Given the description of an element on the screen output the (x, y) to click on. 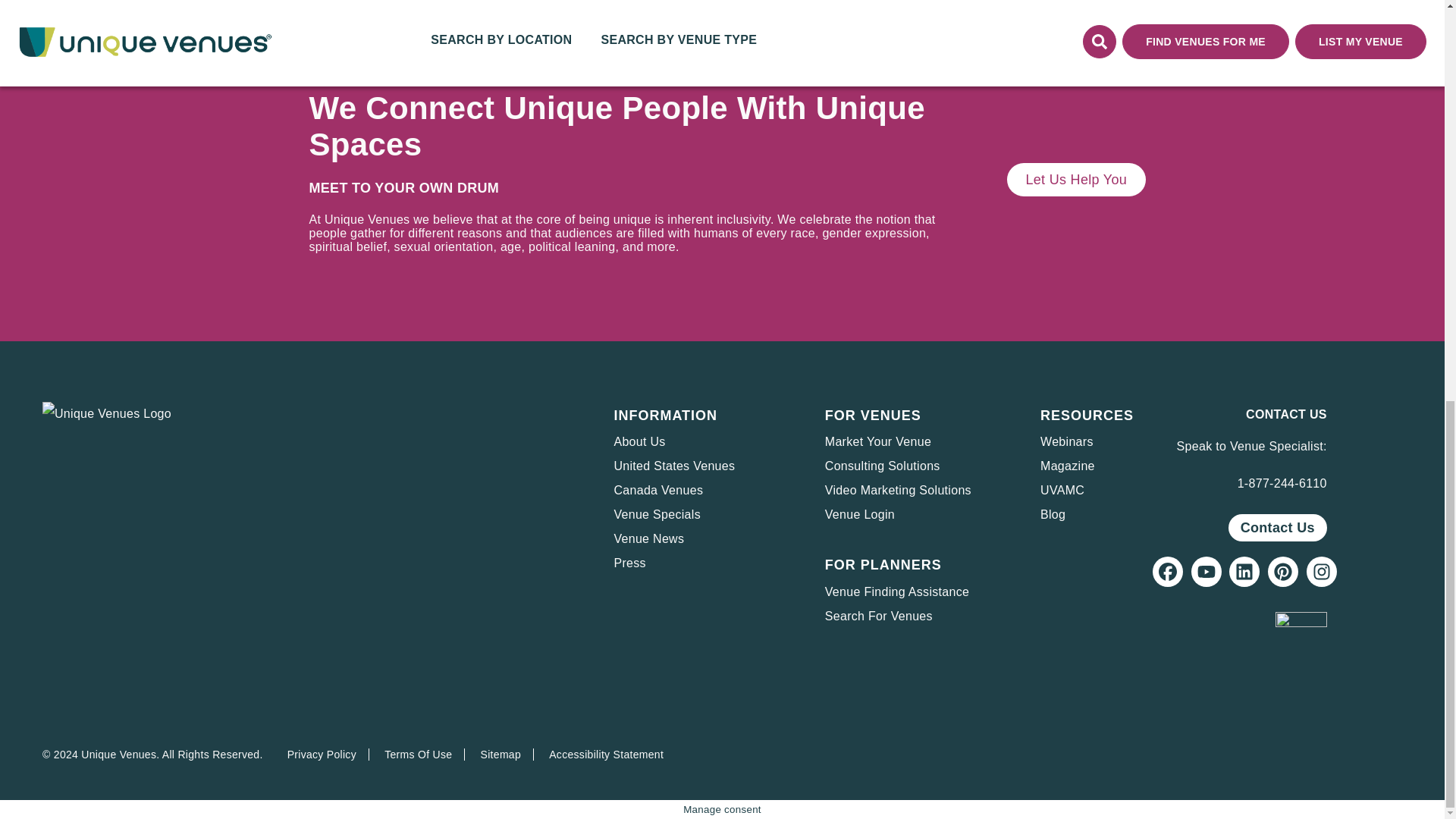
Company Contact Number (1281, 482)
Unique Venues Logo (106, 413)
Company Contact Us Page Link (1277, 527)
